Given the description of an element on the screen output the (x, y) to click on. 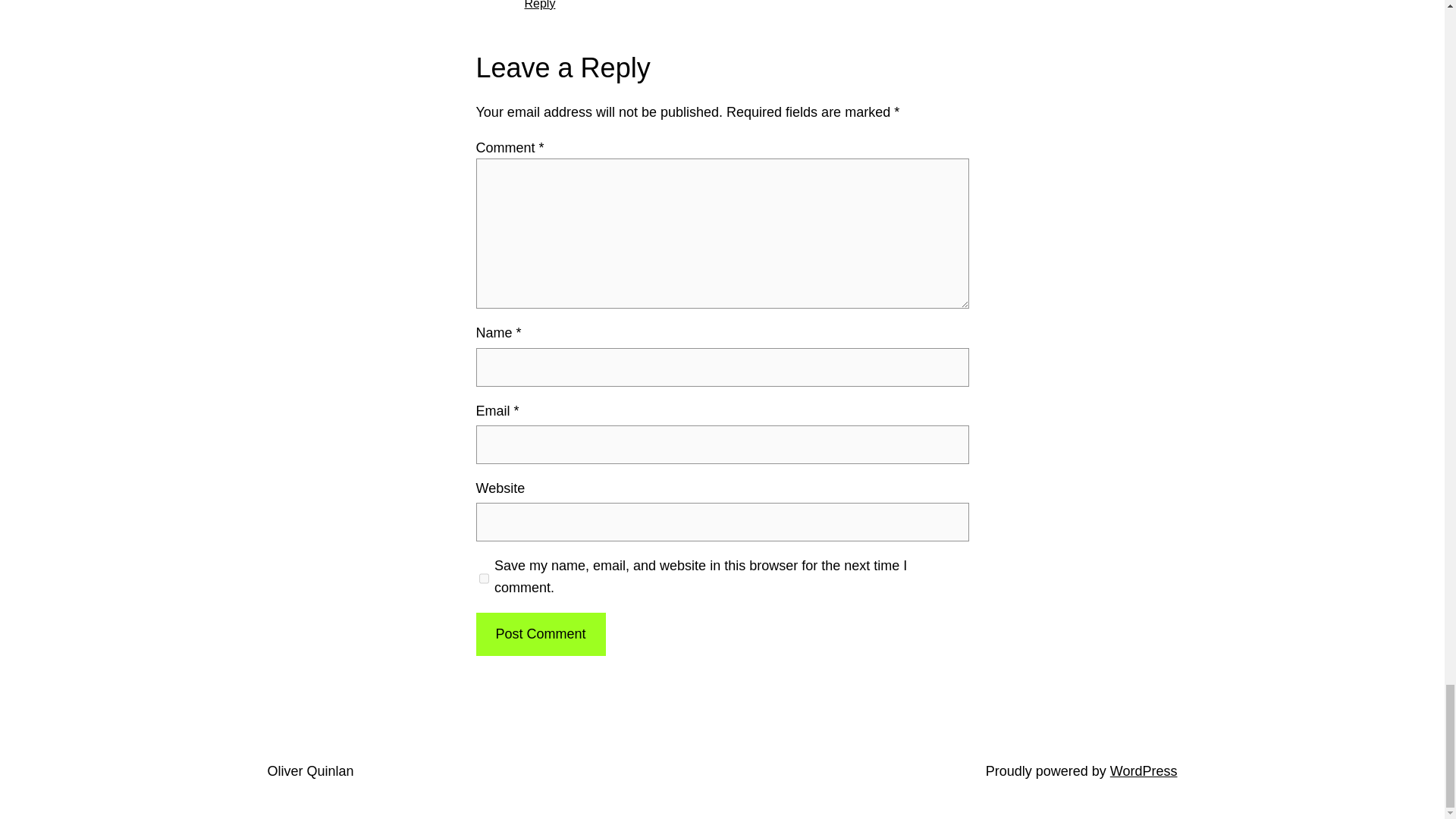
yes (484, 578)
Post Comment (540, 634)
